Given the description of an element on the screen output the (x, y) to click on. 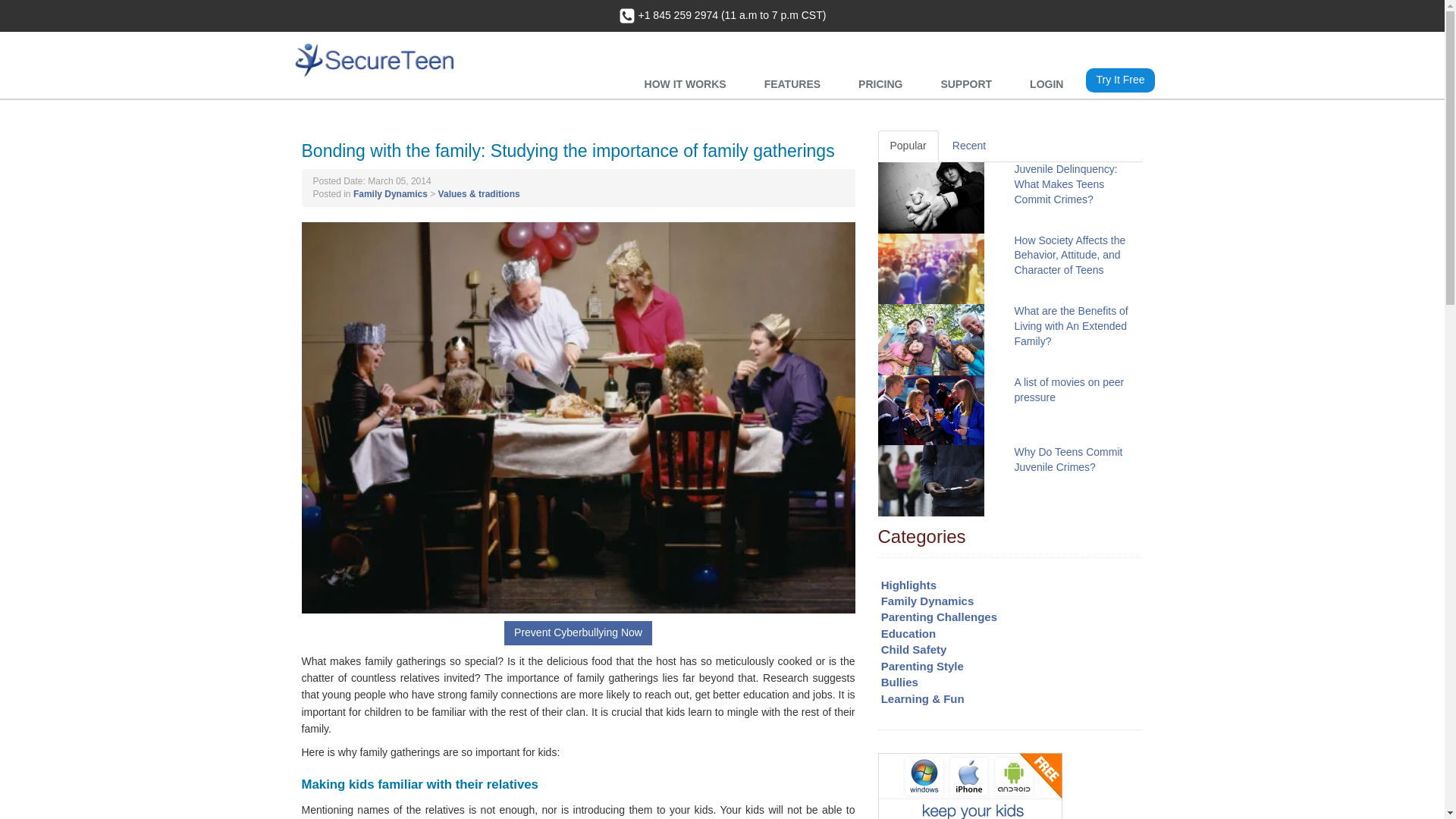
HOW IT WORKS (688, 84)
FEATURES (796, 84)
PRICING (883, 84)
Try It Free (1120, 79)
SUPPORT (969, 84)
Family Dynamics (390, 194)
Prevent Cyberbullying Now (577, 632)
LOGIN (1050, 84)
